Given the description of an element on the screen output the (x, y) to click on. 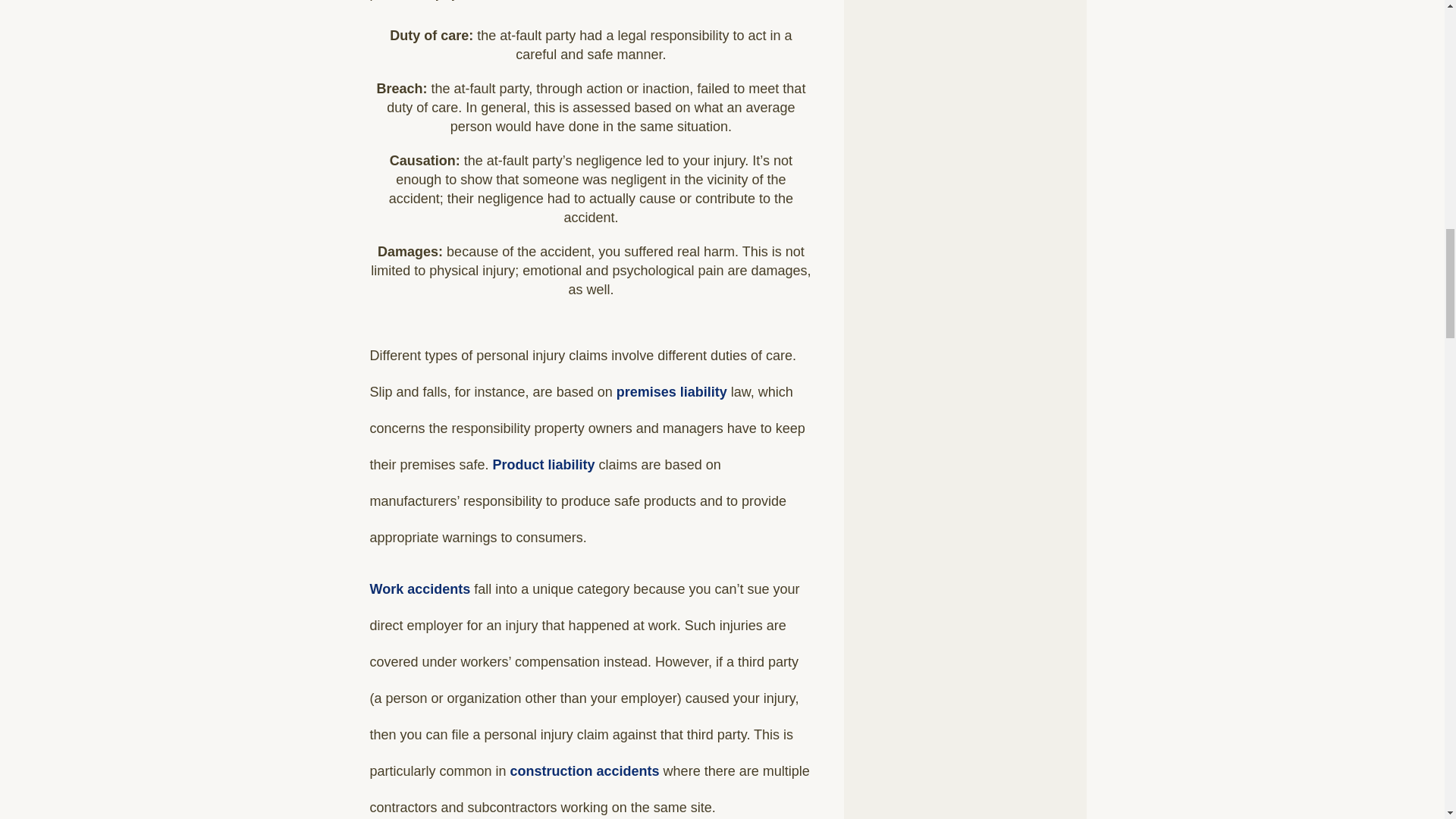
Product liability (544, 464)
premises liability (670, 391)
Construction Accidents (585, 770)
Premises Liability (670, 391)
Work Accidents (419, 589)
construction accidents (585, 770)
Product Liability (544, 464)
Work accidents (419, 589)
